Given the description of an element on the screen output the (x, y) to click on. 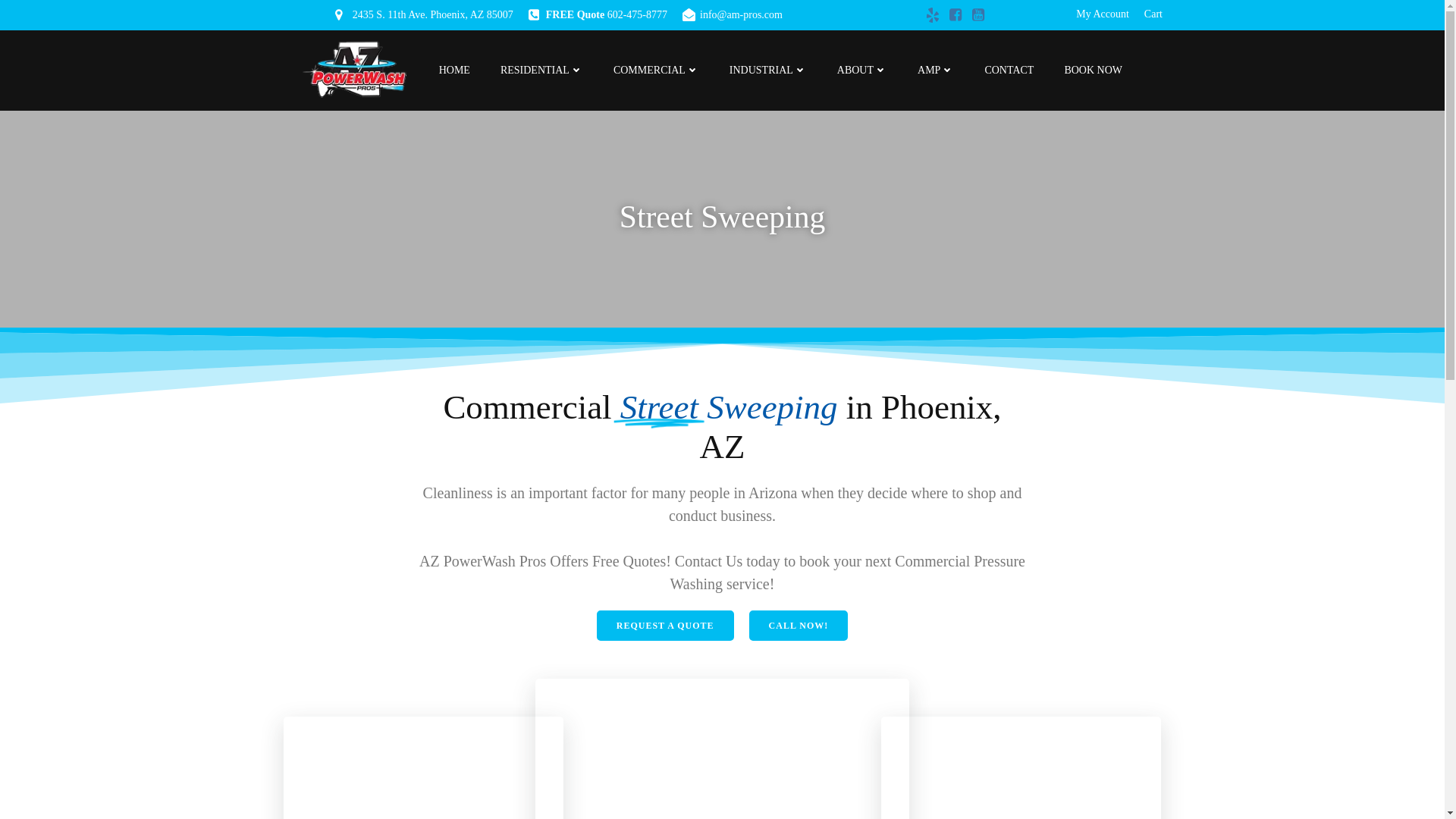
RESIDENTIAL (541, 69)
Cart (1152, 13)
HOME (454, 69)
INDUSTRIAL (767, 69)
FREE Quote 602-475-8777 (597, 15)
COMMERCIAL (655, 69)
My Account (1102, 13)
2435 S. 11th Ave. Phoenix, AZ 85007 (423, 15)
